Given the description of an element on the screen output the (x, y) to click on. 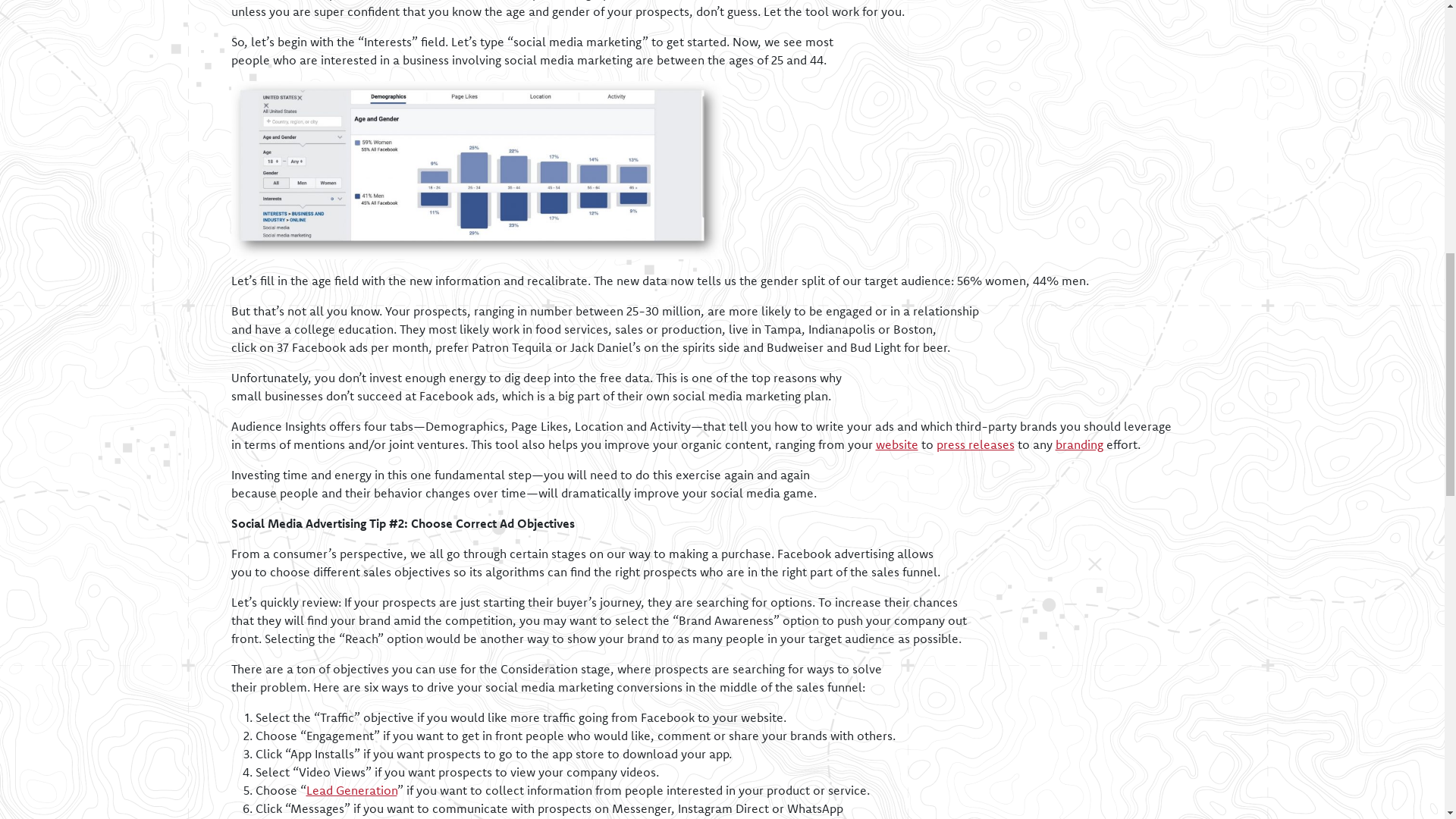
Lead Generation (351, 789)
website (896, 444)
branding (1079, 444)
press releases (974, 444)
